Given the description of an element on the screen output the (x, y) to click on. 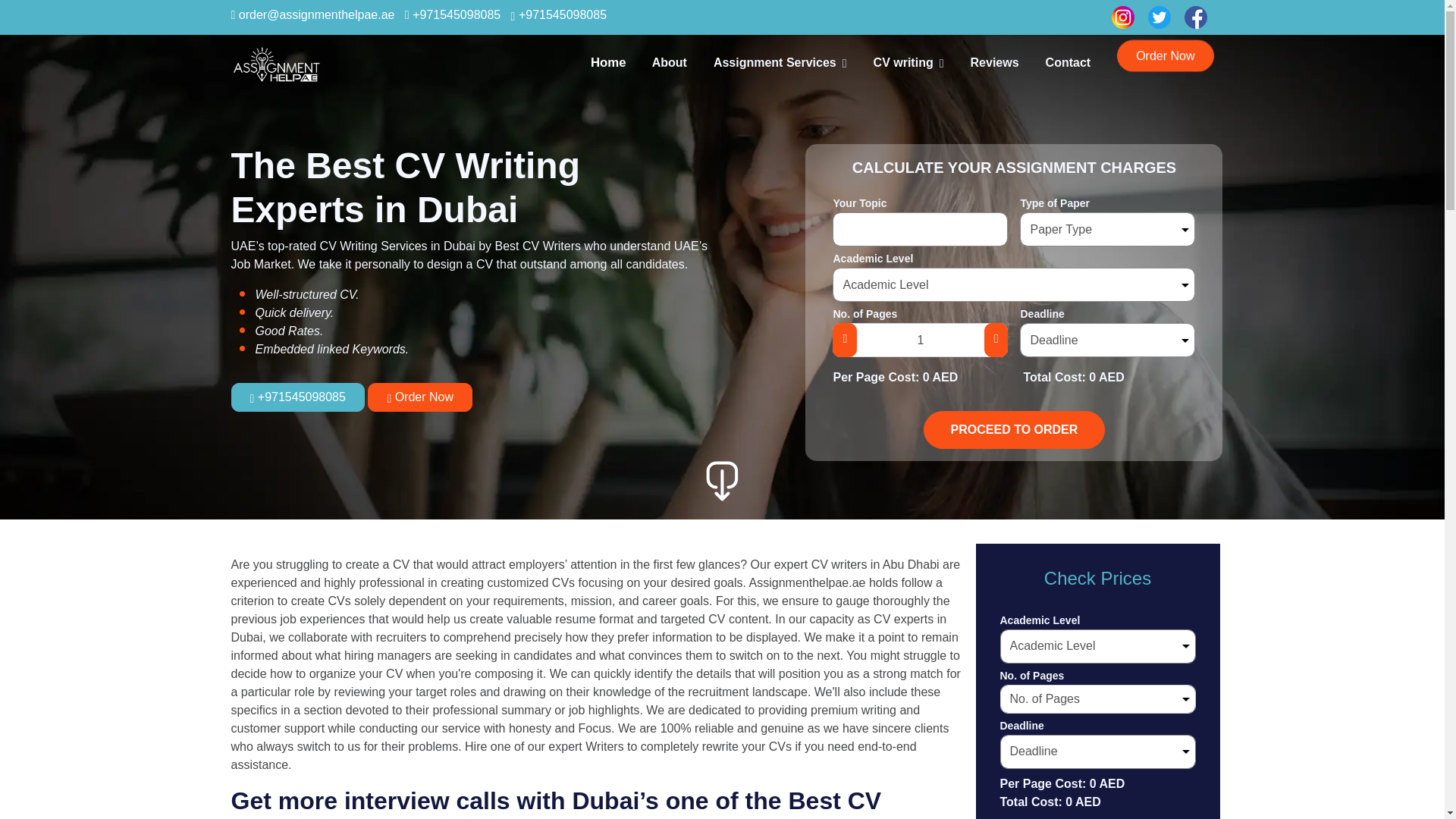
1 (919, 339)
About (669, 63)
Assignment Services (780, 63)
Home (607, 62)
